Given the description of an element on the screen output the (x, y) to click on. 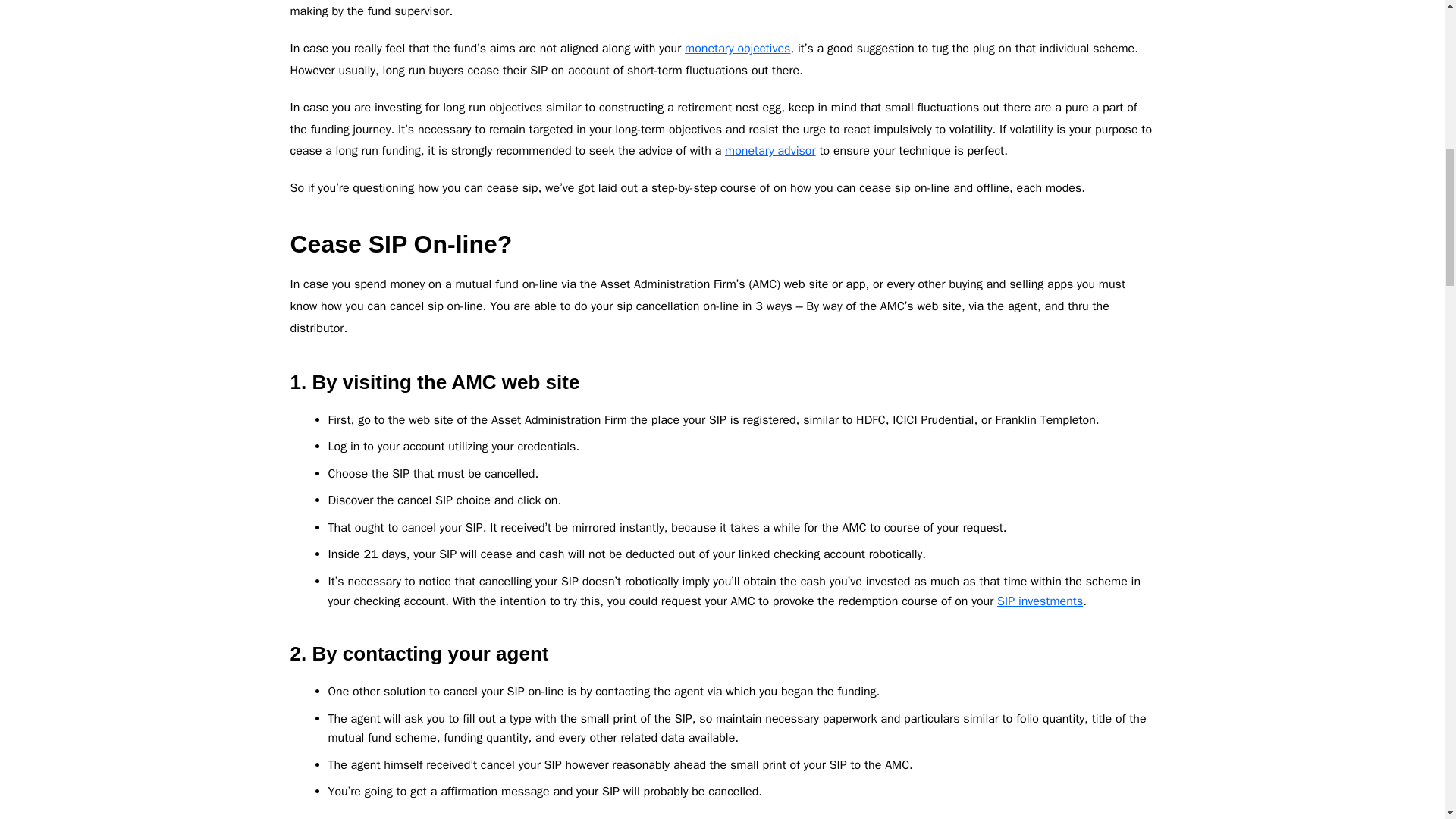
monetary objectives (737, 48)
monetary advisor (770, 150)
SIP investments (1040, 601)
